Given the description of an element on the screen output the (x, y) to click on. 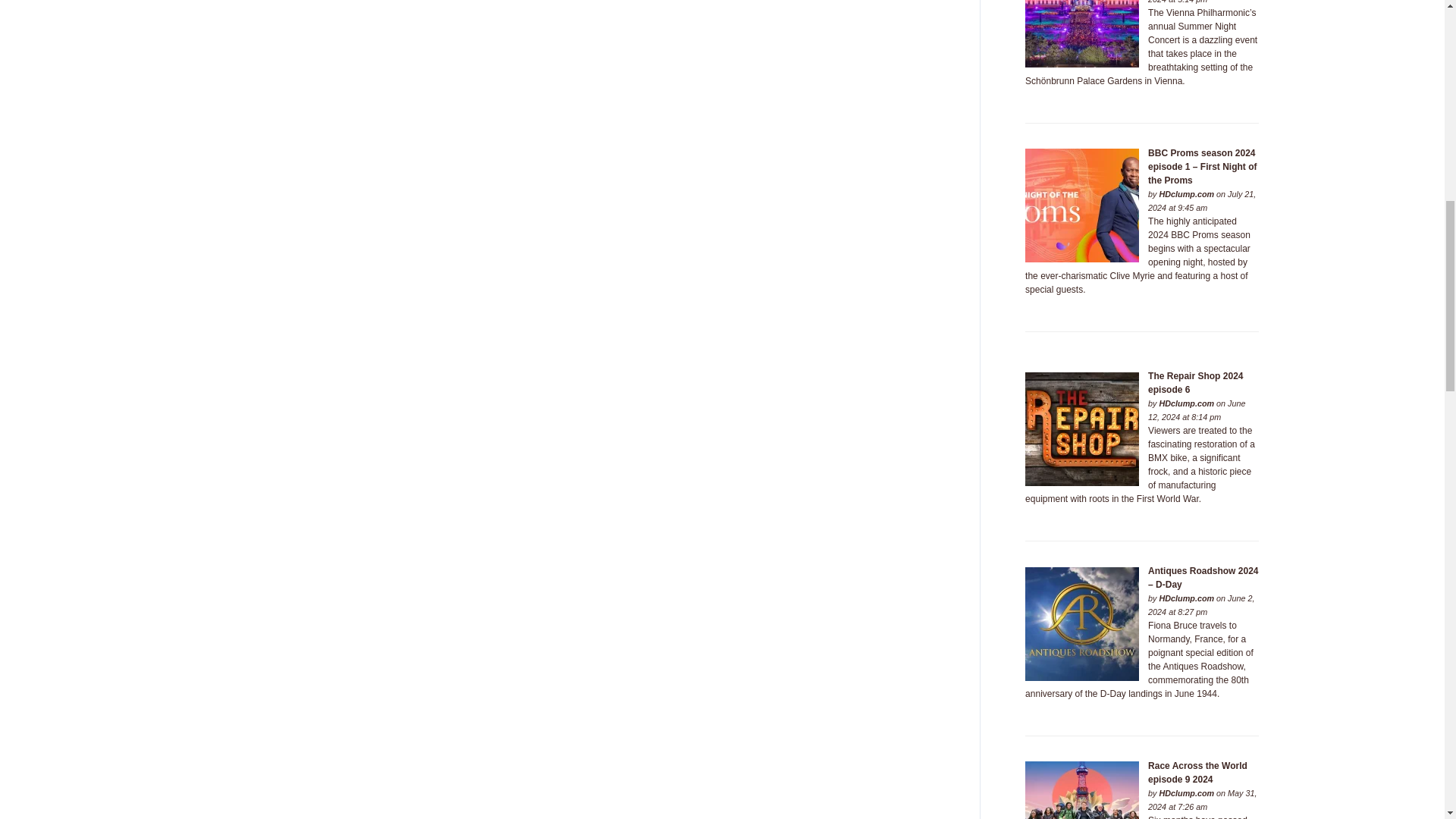
Summer Night Concert from Vienna 2024 (1081, 33)
